Given the description of an element on the screen output the (x, y) to click on. 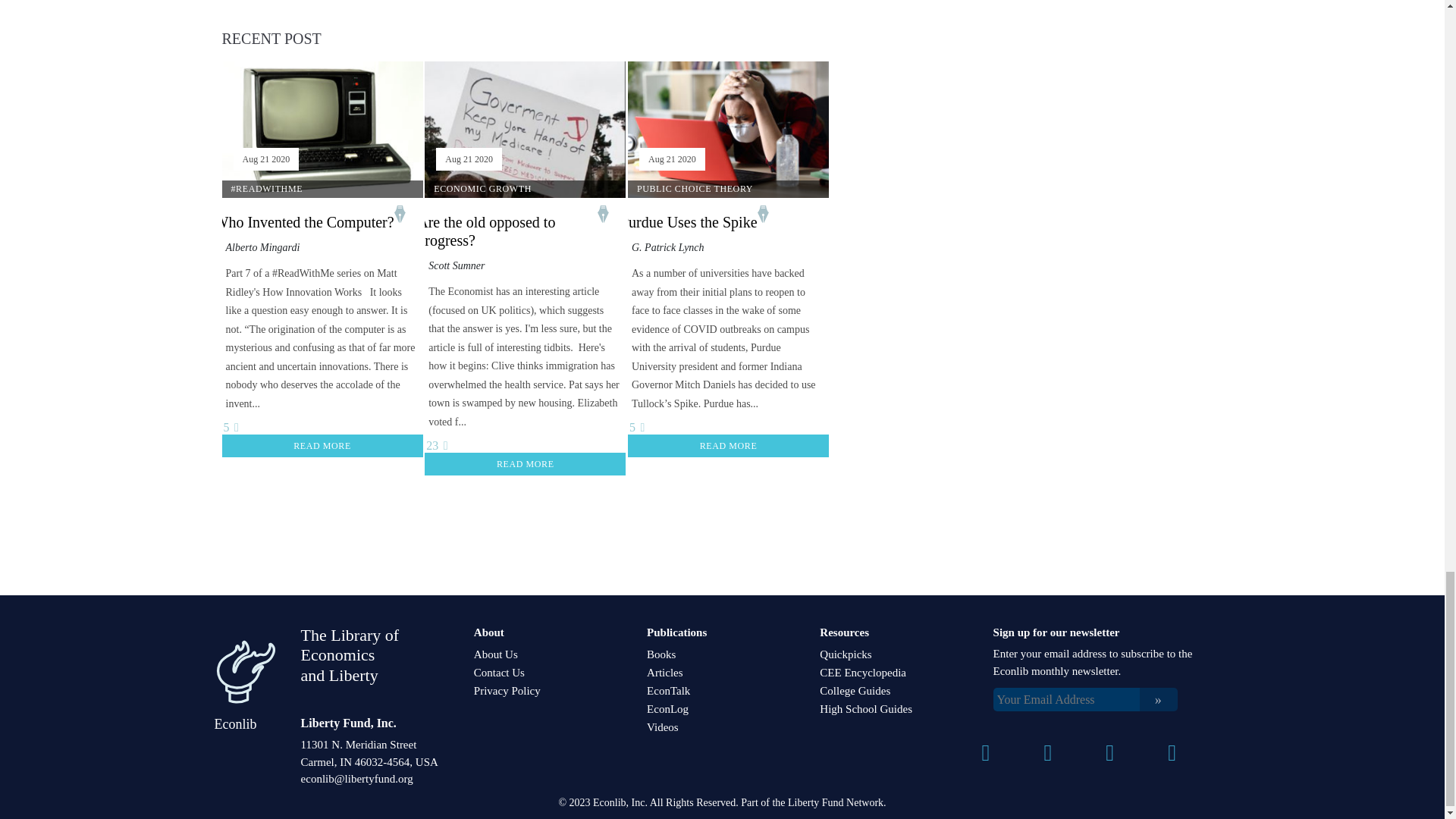
G. Patrick Lynch (667, 247)
Alberto Mingardi (262, 247)
Scott Sumner (456, 265)
